Given the description of an element on the screen output the (x, y) to click on. 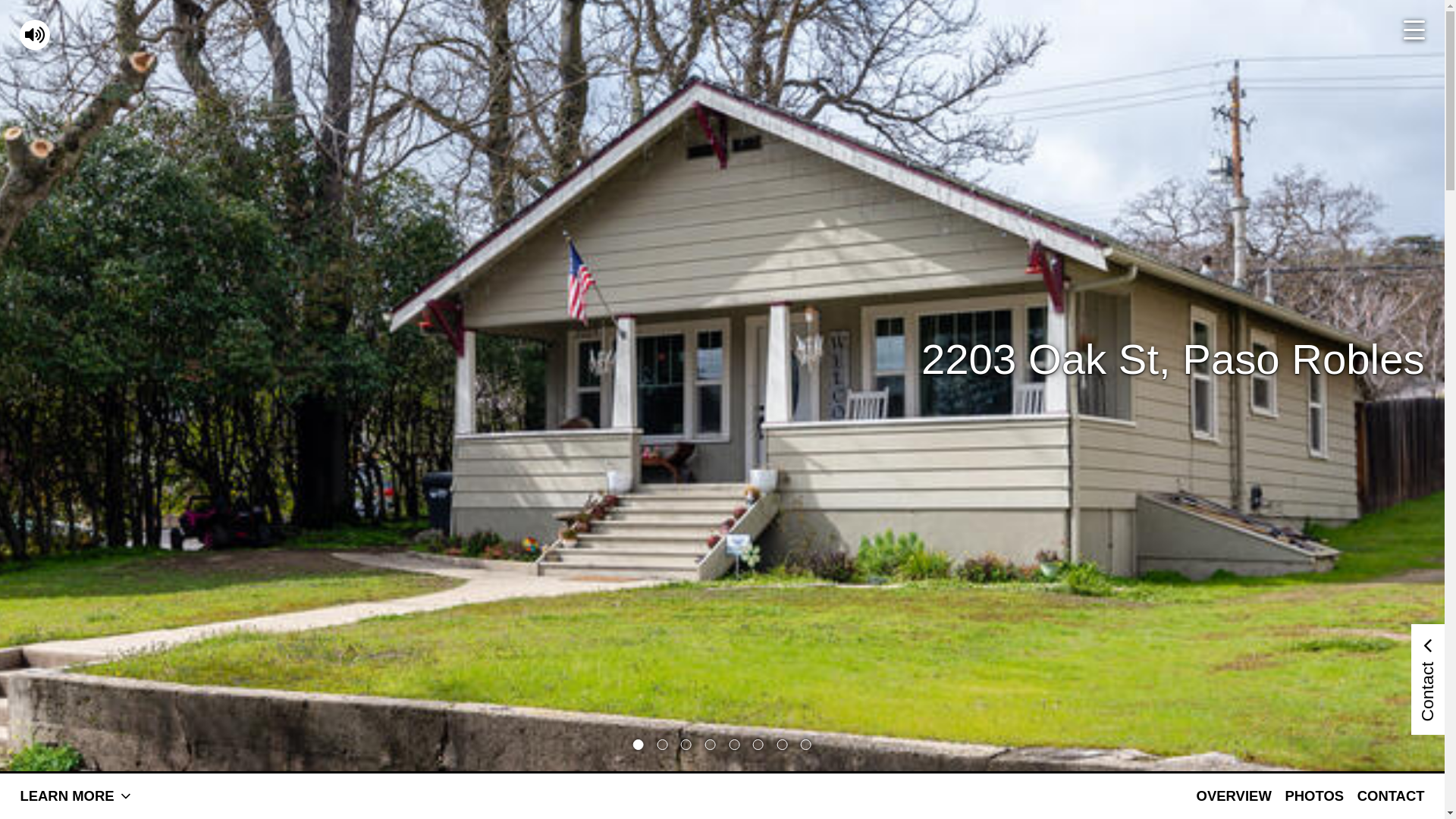
PHOTOS Element type: text (1313, 796)
OVERVIEW Element type: text (1233, 796)
CONTACT Element type: text (1390, 796)
